Given the description of an element on the screen output the (x, y) to click on. 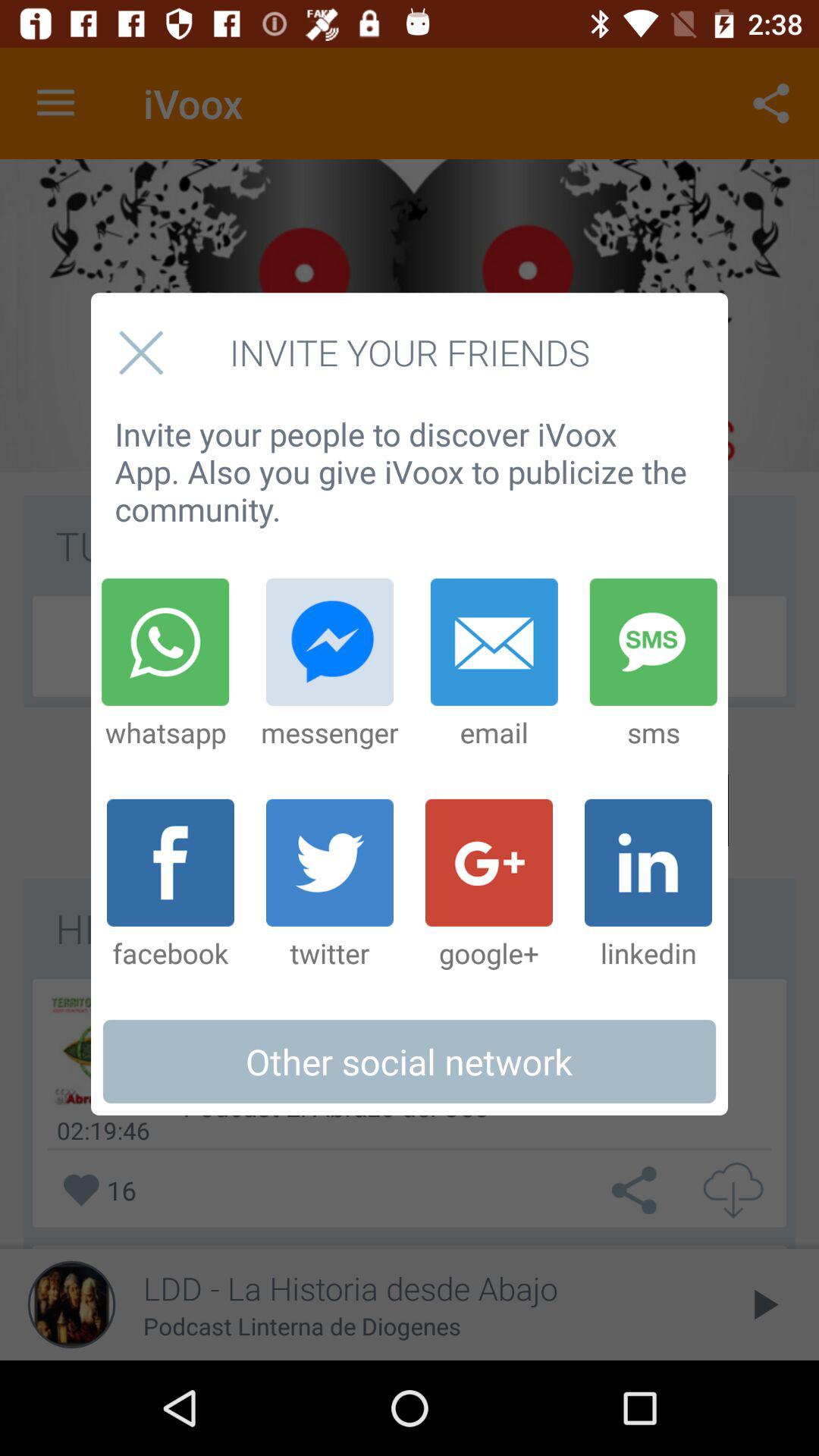
turn off the icon next to whatsapp icon (329, 664)
